Given the description of an element on the screen output the (x, y) to click on. 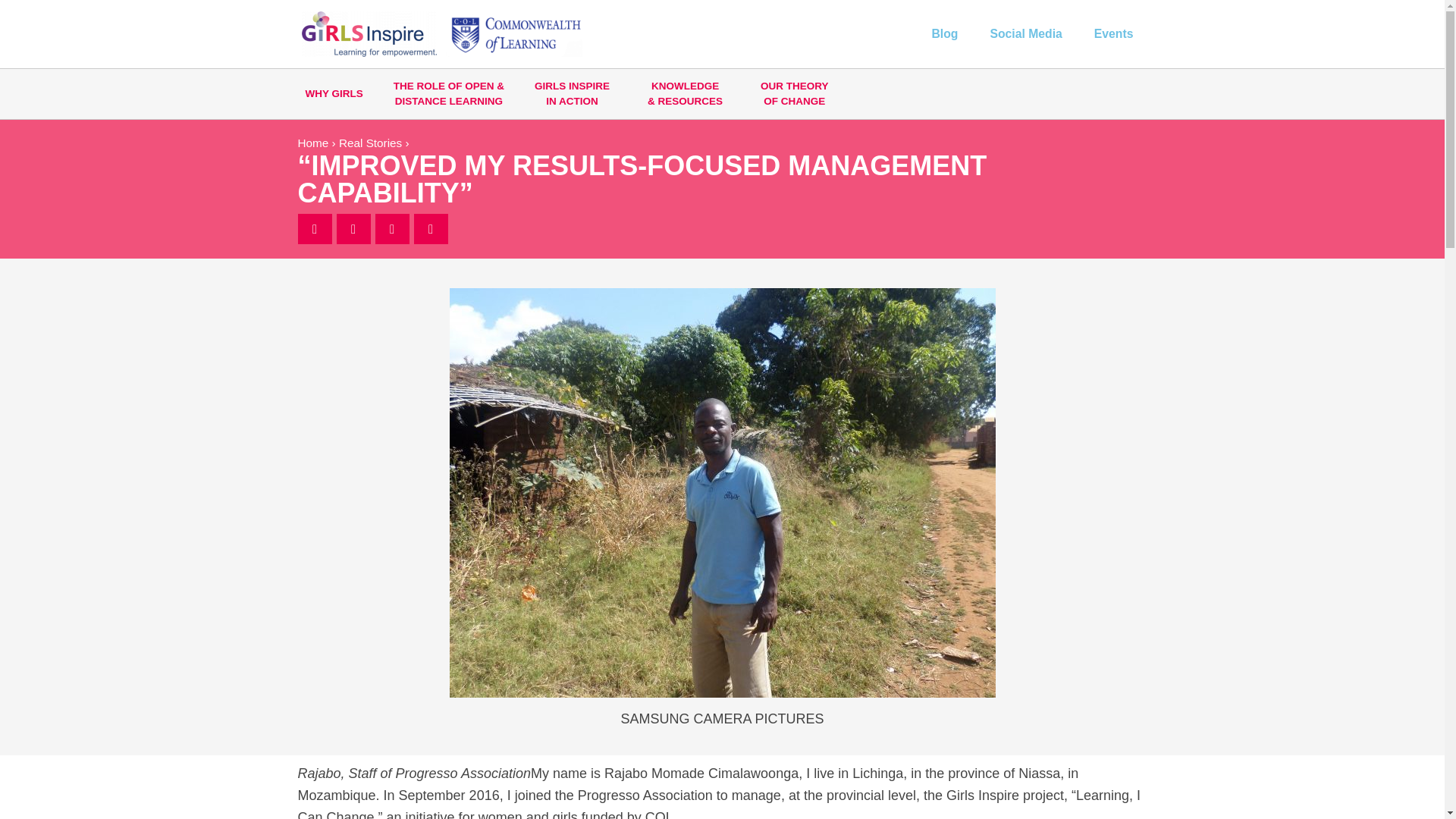
Blog (944, 33)
Social Media (1025, 33)
WHY GIRLS (333, 93)
Events (575, 93)
